Given the description of an element on the screen output the (x, y) to click on. 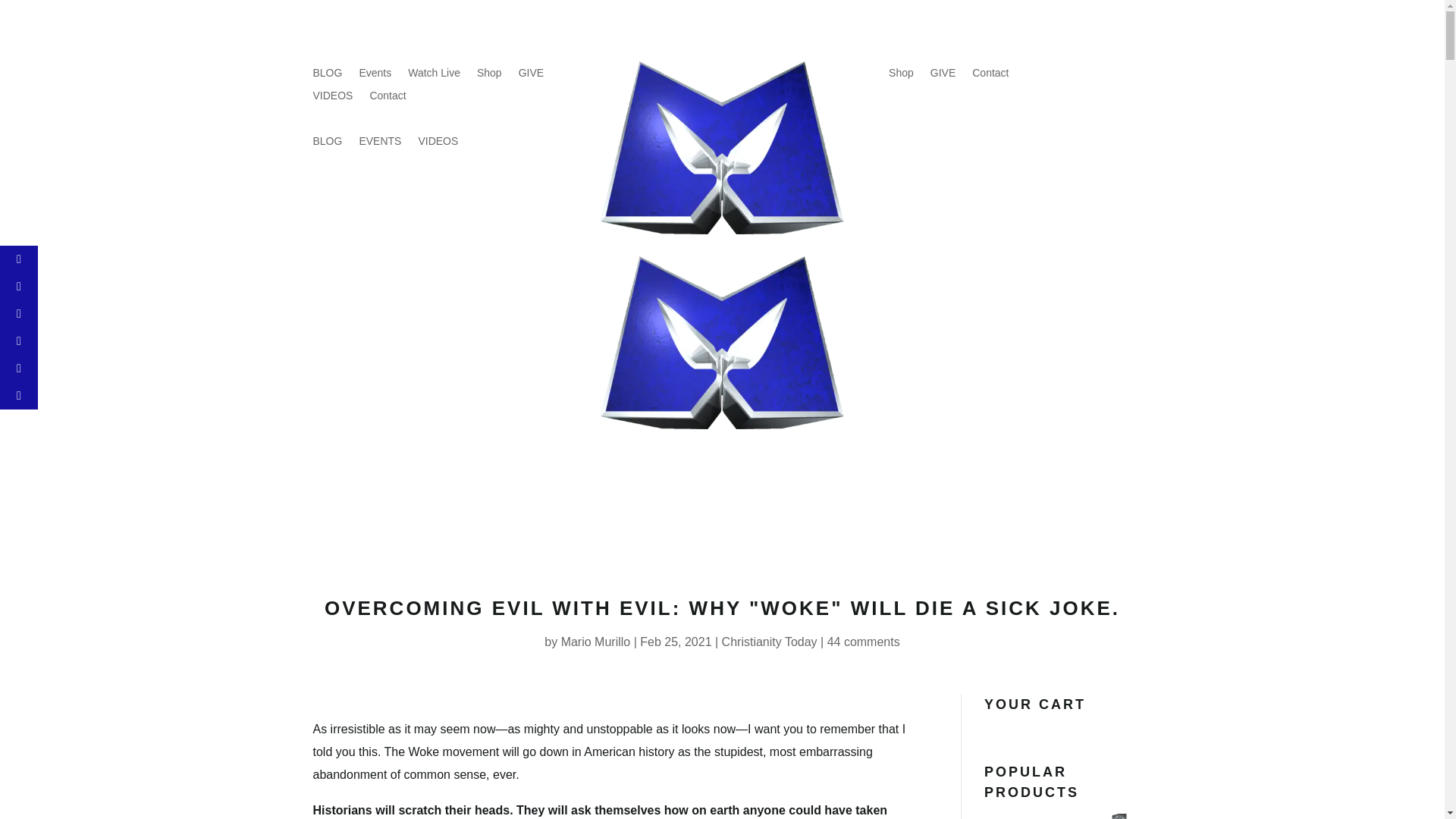
Shop (489, 75)
Contact (990, 75)
Watch Live (433, 75)
GIVE (942, 75)
EVENTS (379, 143)
VIDEOS (332, 98)
VIDEOS (437, 143)
Events (374, 75)
MM-logo-web-480x341 (721, 147)
Christianity Today (769, 641)
Posts by Mario Murillo (595, 641)
Shop (901, 75)
MM-logo-web-480x341 (721, 342)
GIVE (530, 75)
BLOG (327, 143)
